Given the description of an element on the screen output the (x, y) to click on. 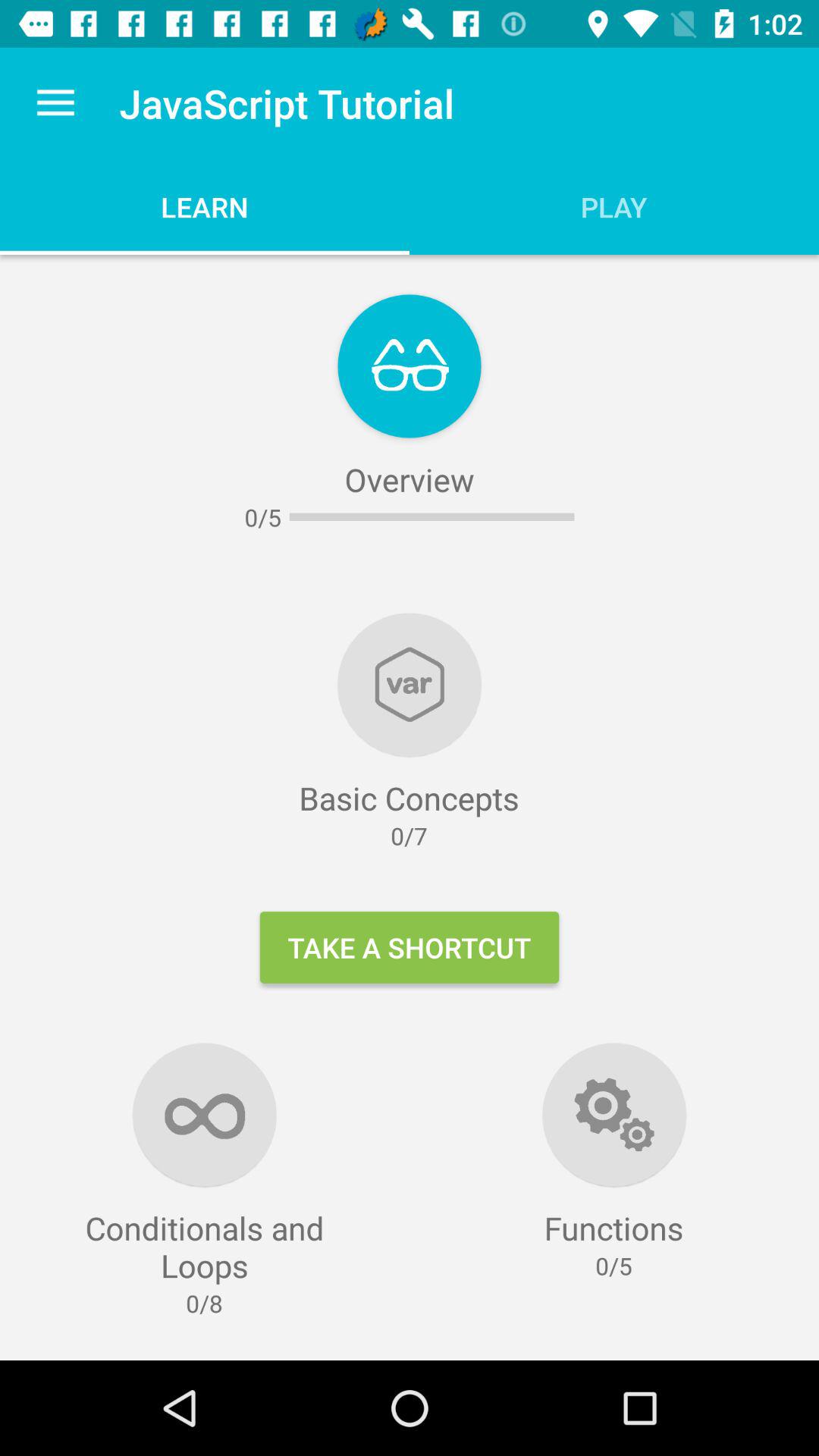
select the icon above the conditionals and loops (55, 103)
